Given the description of an element on the screen output the (x, y) to click on. 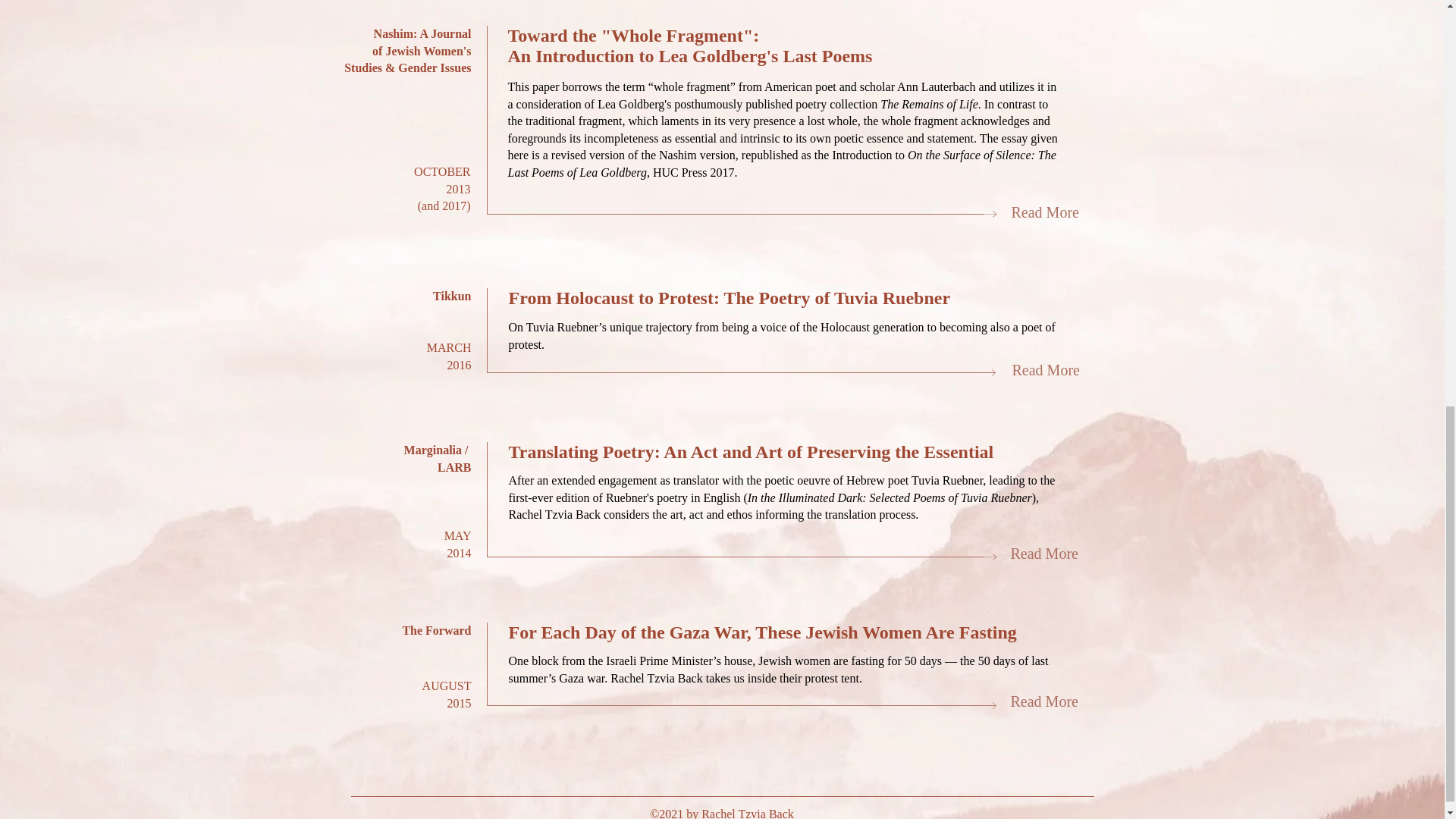
Read More (1044, 211)
Read More (1043, 701)
Read More (1043, 553)
Read More (1044, 369)
